Given the description of an element on the screen output the (x, y) to click on. 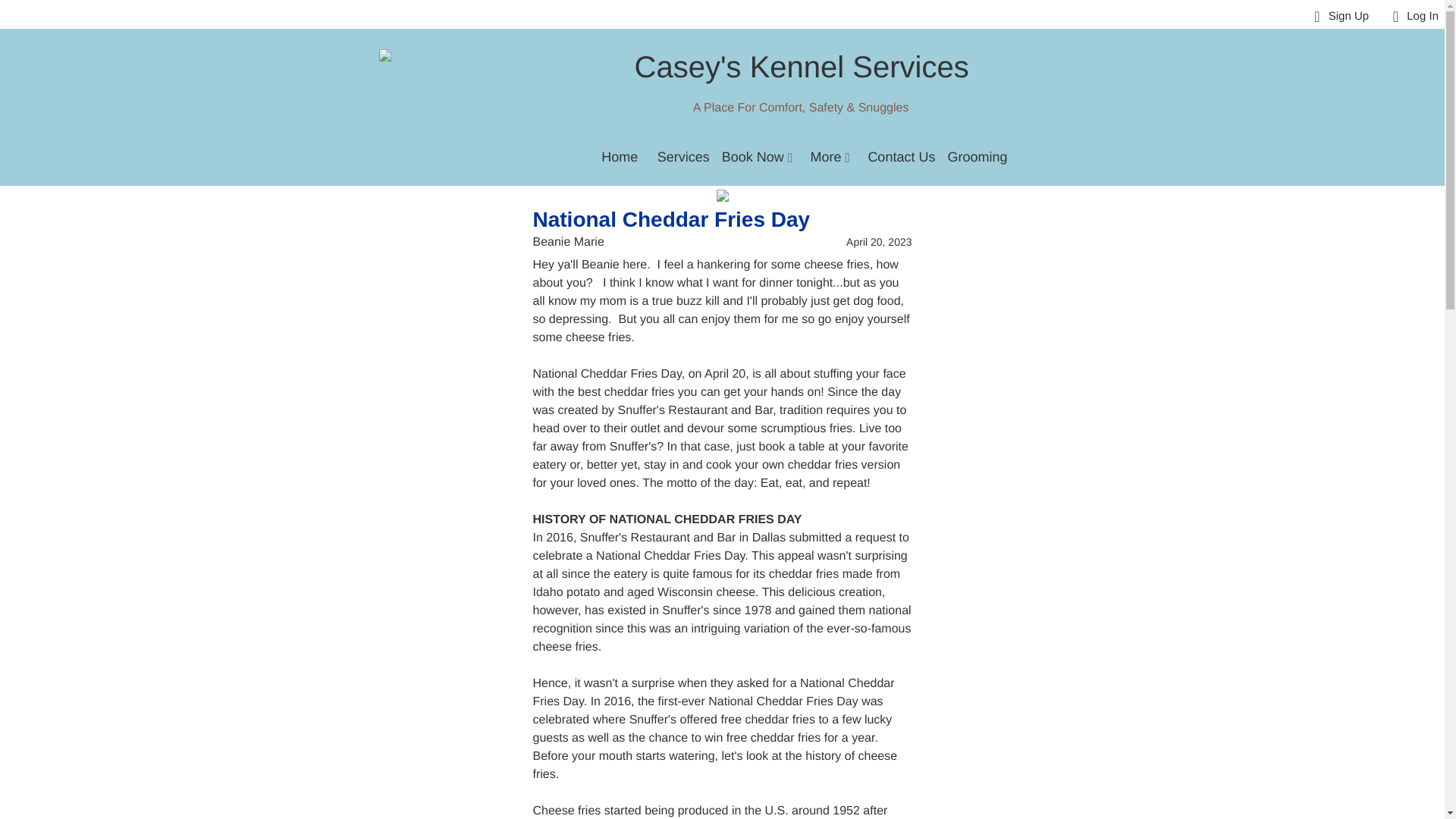
Book Now (757, 157)
Grooming (976, 157)
Contact Us (900, 157)
Casey's Kennel Services (799, 69)
Sign Up (1337, 16)
Services (683, 157)
Home (619, 157)
More (830, 157)
Log In (1411, 16)
